Given the description of an element on the screen output the (x, y) to click on. 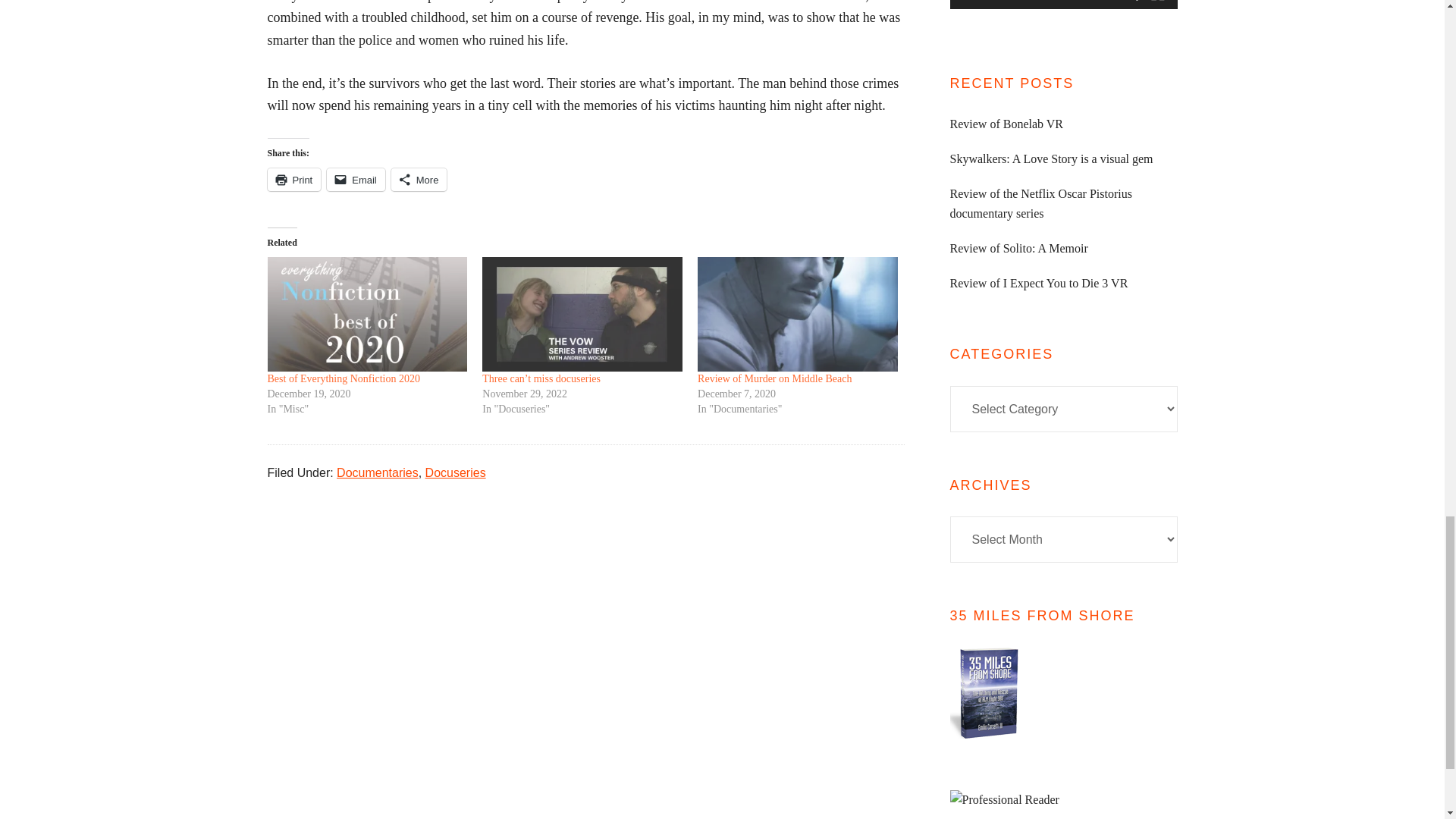
Click to email a link to a friend (355, 179)
Click to print (293, 179)
Print (293, 179)
Review of Murder on Middle Beach (797, 314)
Review of Murder on Middle Beach (774, 378)
More (418, 179)
Review of Murder on Middle Beach (774, 378)
Best of Everything Nonfiction 2020 (342, 378)
Email (355, 179)
Best of Everything Nonfiction 2020 (366, 314)
